Given the description of an element on the screen output the (x, y) to click on. 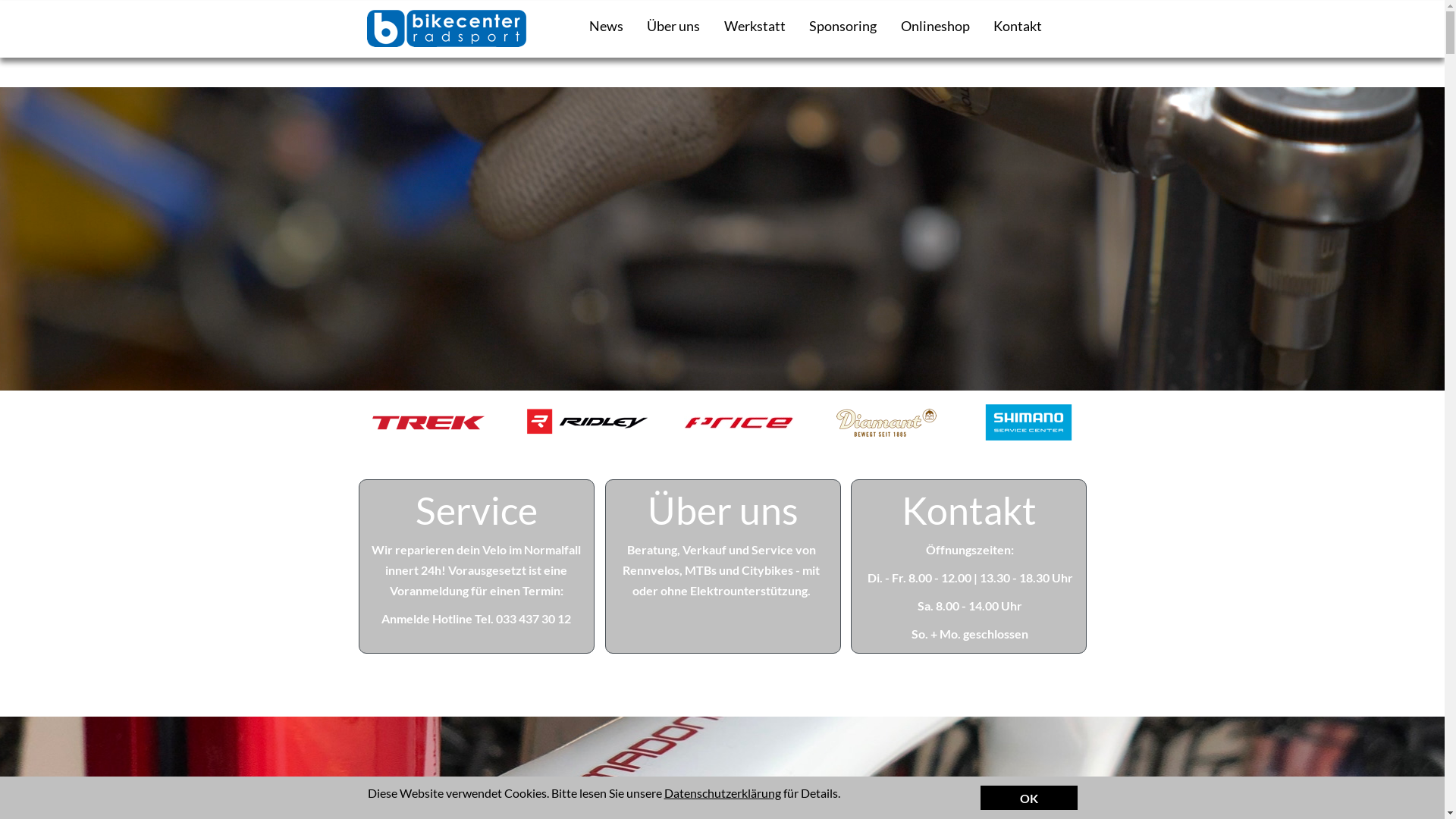
Di. - Fr. 8.00 - 12.00 | 13.30 - 18.30 Uhr Element type: text (970, 577)
Sa. 8.00 - 14.00 Uhr Element type: text (969, 605)
Anmelde Hotline Tel. 033 437 30 12 Element type: text (476, 618)
V Element type: text (451, 569)
Kontakt Element type: text (967, 510)
So. + Mo. geschlossen Element type: text (969, 633)
Service Element type: text (476, 510)
Wir reparieren dein Velo im Normalfall innert 24h! Element type: text (475, 559)
